Given the description of an element on the screen output the (x, y) to click on. 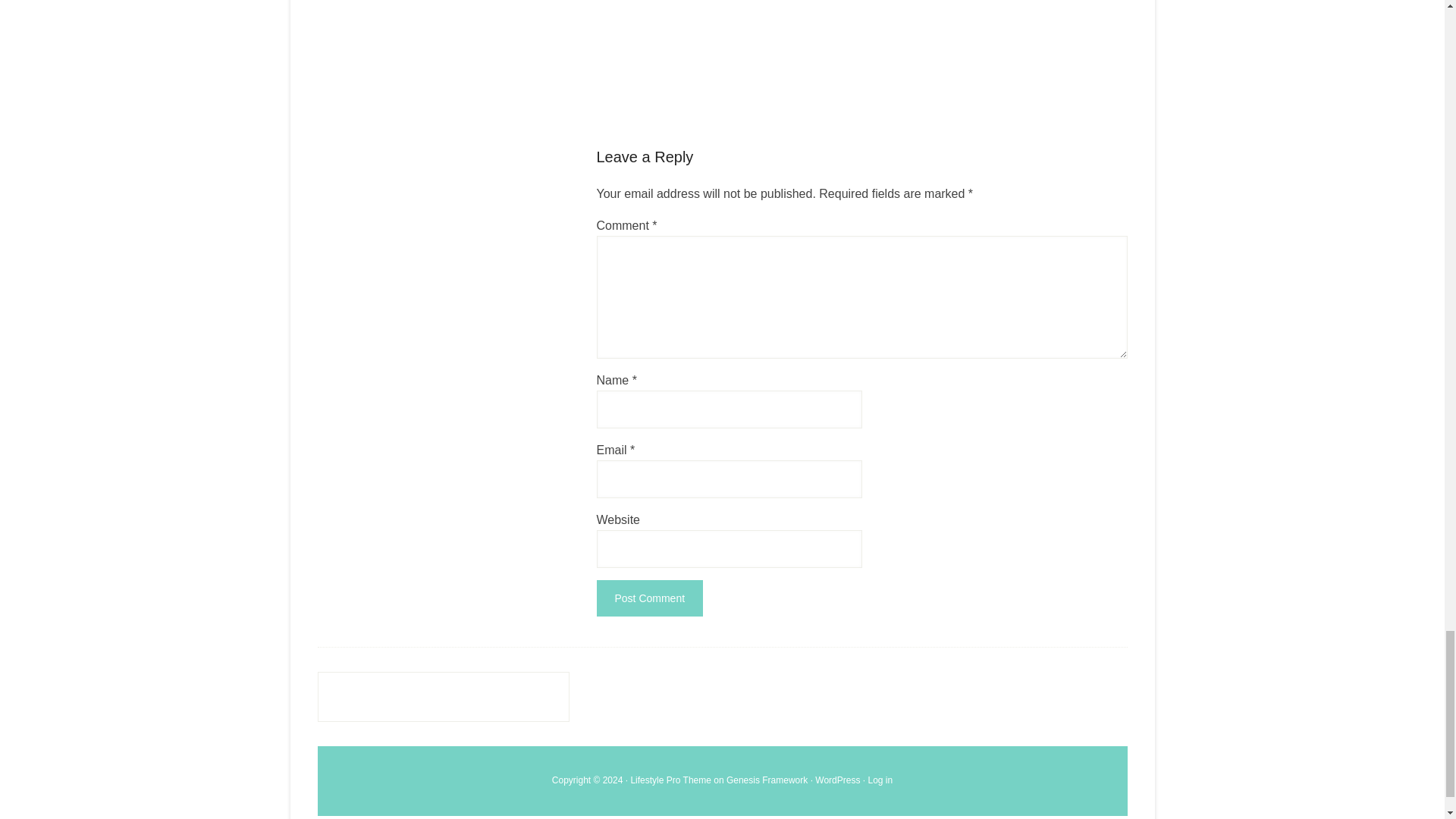
Post Comment (649, 597)
